Given the description of an element on the screen output the (x, y) to click on. 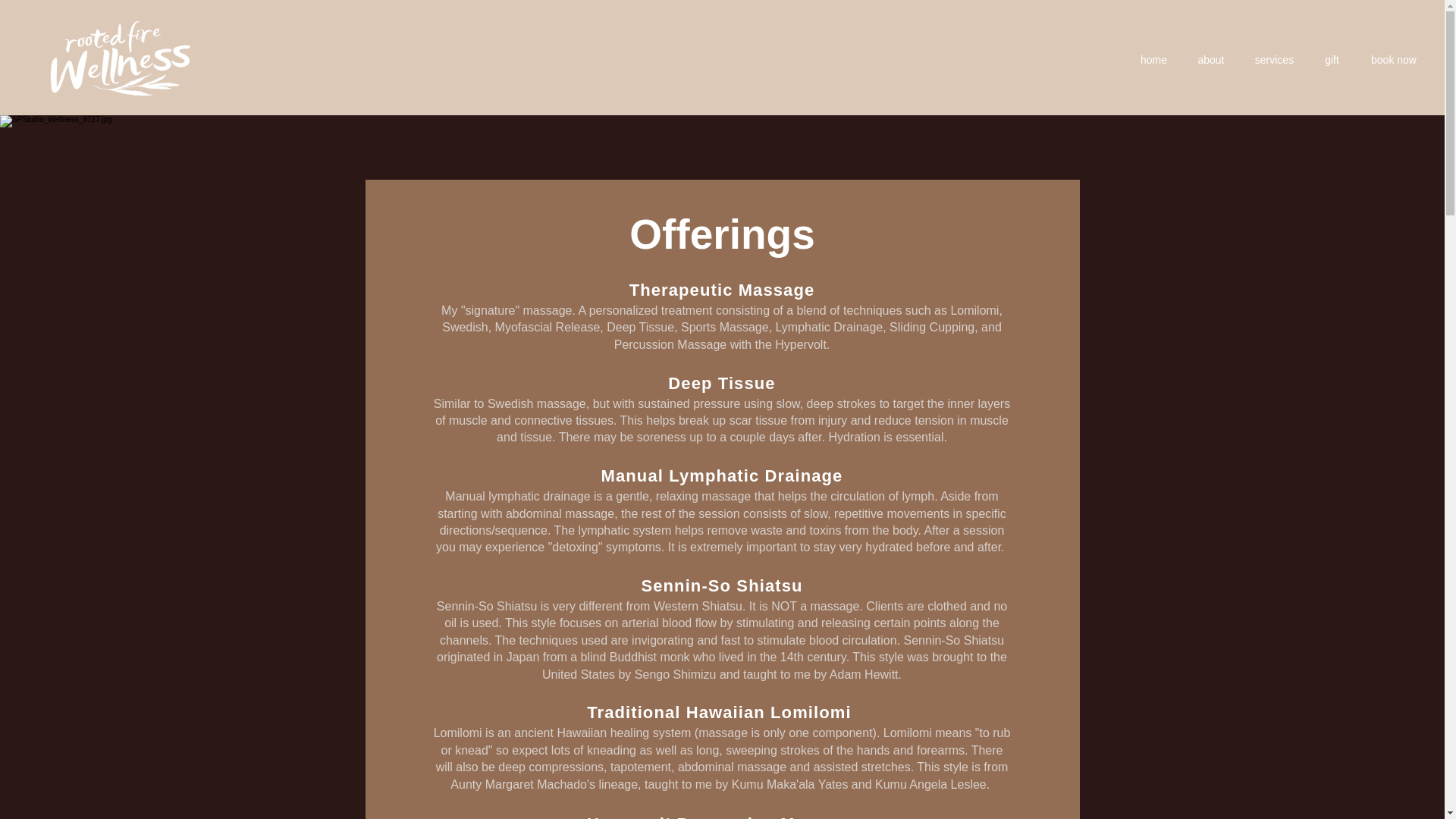
services (1274, 59)
home (1153, 59)
book now (1393, 59)
about (1211, 59)
gift (1331, 59)
